Given the description of an element on the screen output the (x, y) to click on. 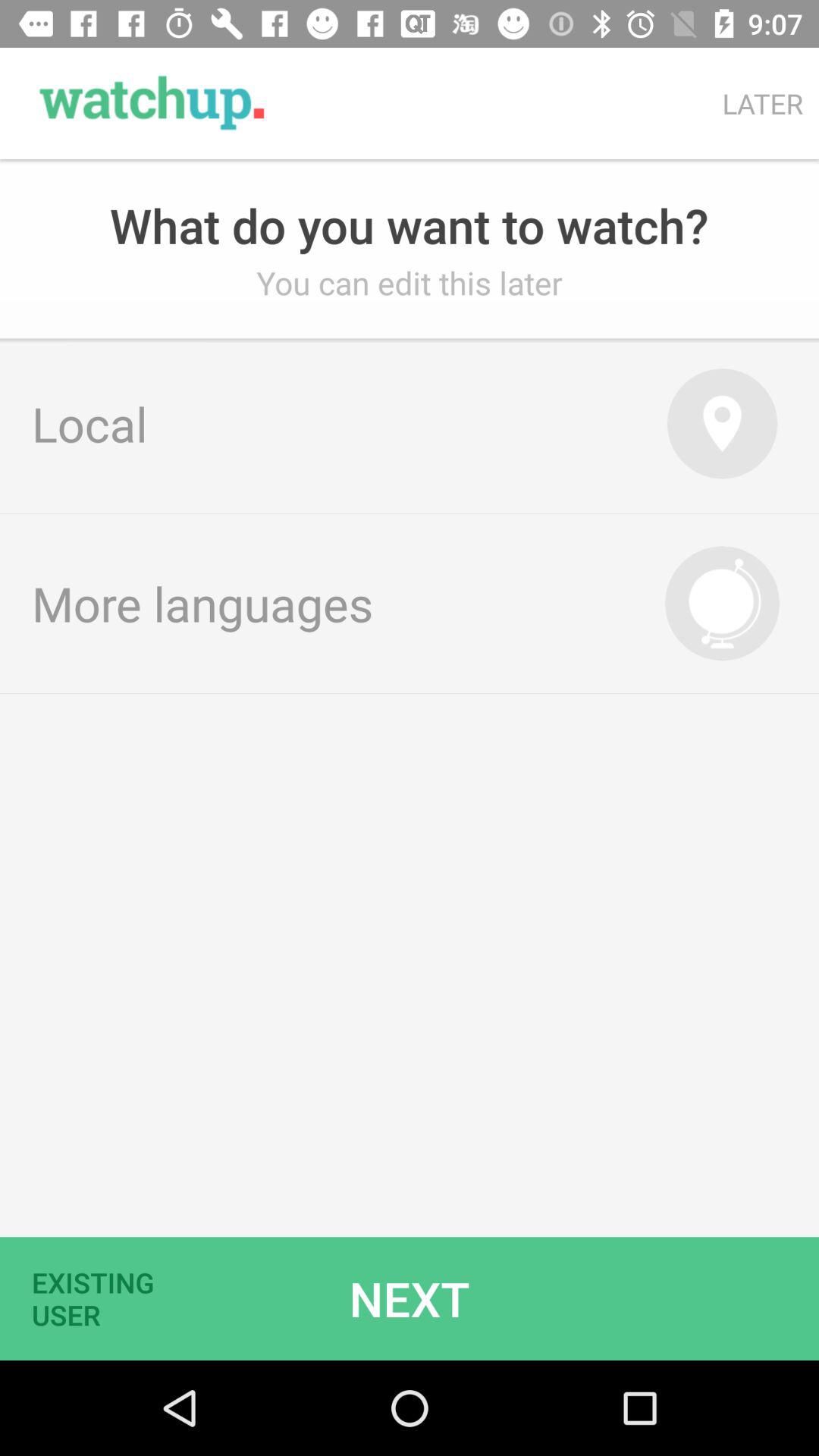
flip until the existing
user (102, 1298)
